Given the description of an element on the screen output the (x, y) to click on. 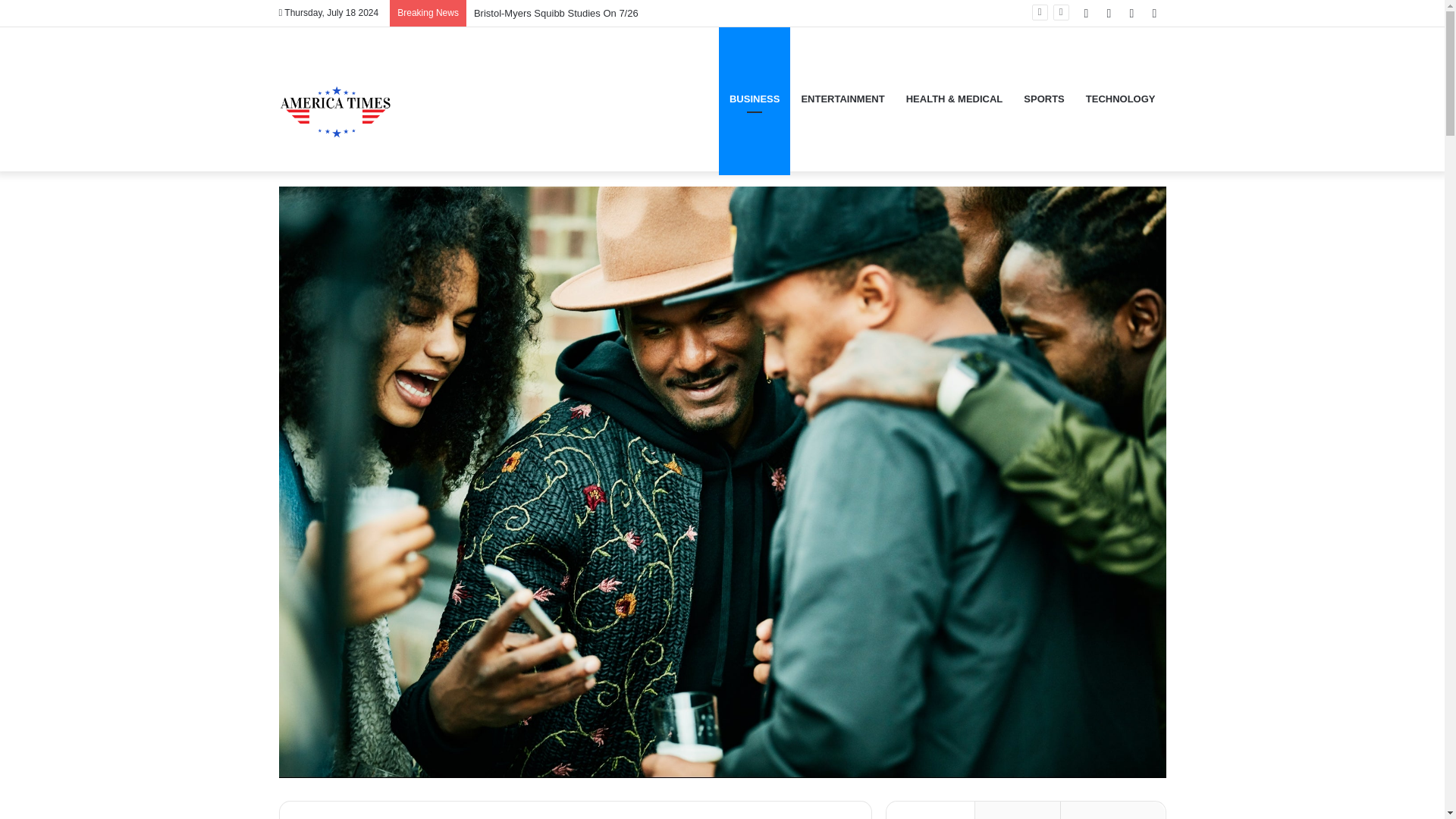
SPORTS (1043, 99)
TECHNOLOGY (1120, 99)
Twitter (1109, 13)
YouTube (1131, 13)
Instagram (1154, 13)
AMERICA TIMES (336, 99)
BUSINESS (754, 99)
Facebook (1086, 13)
ENTERTAINMENT (842, 99)
